Given the description of an element on the screen output the (x, y) to click on. 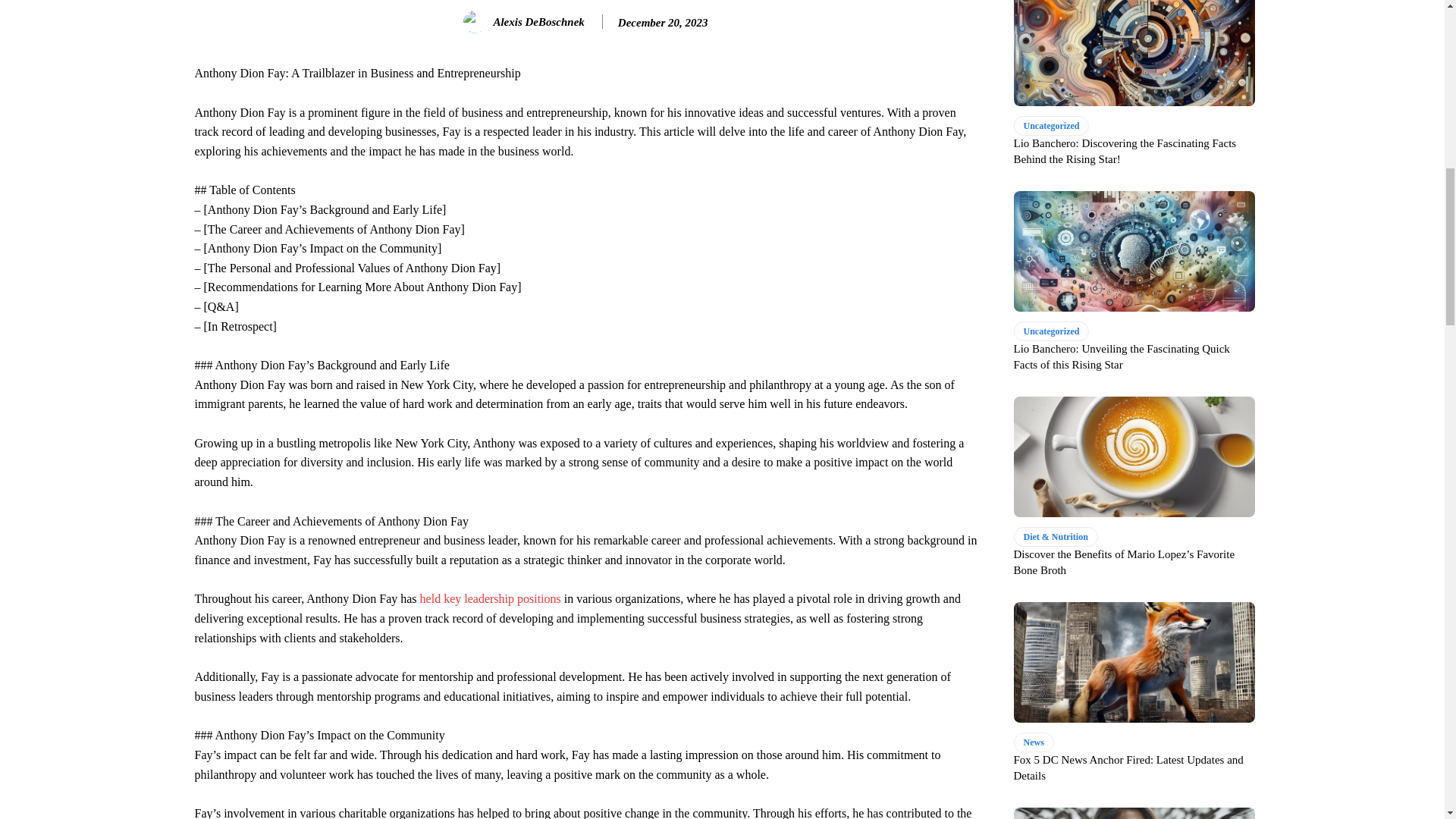
Alexis deBoschnek (476, 21)
The Fascinating Journey of Anthony Dion Fay (490, 598)
